Given the description of an element on the screen output the (x, y) to click on. 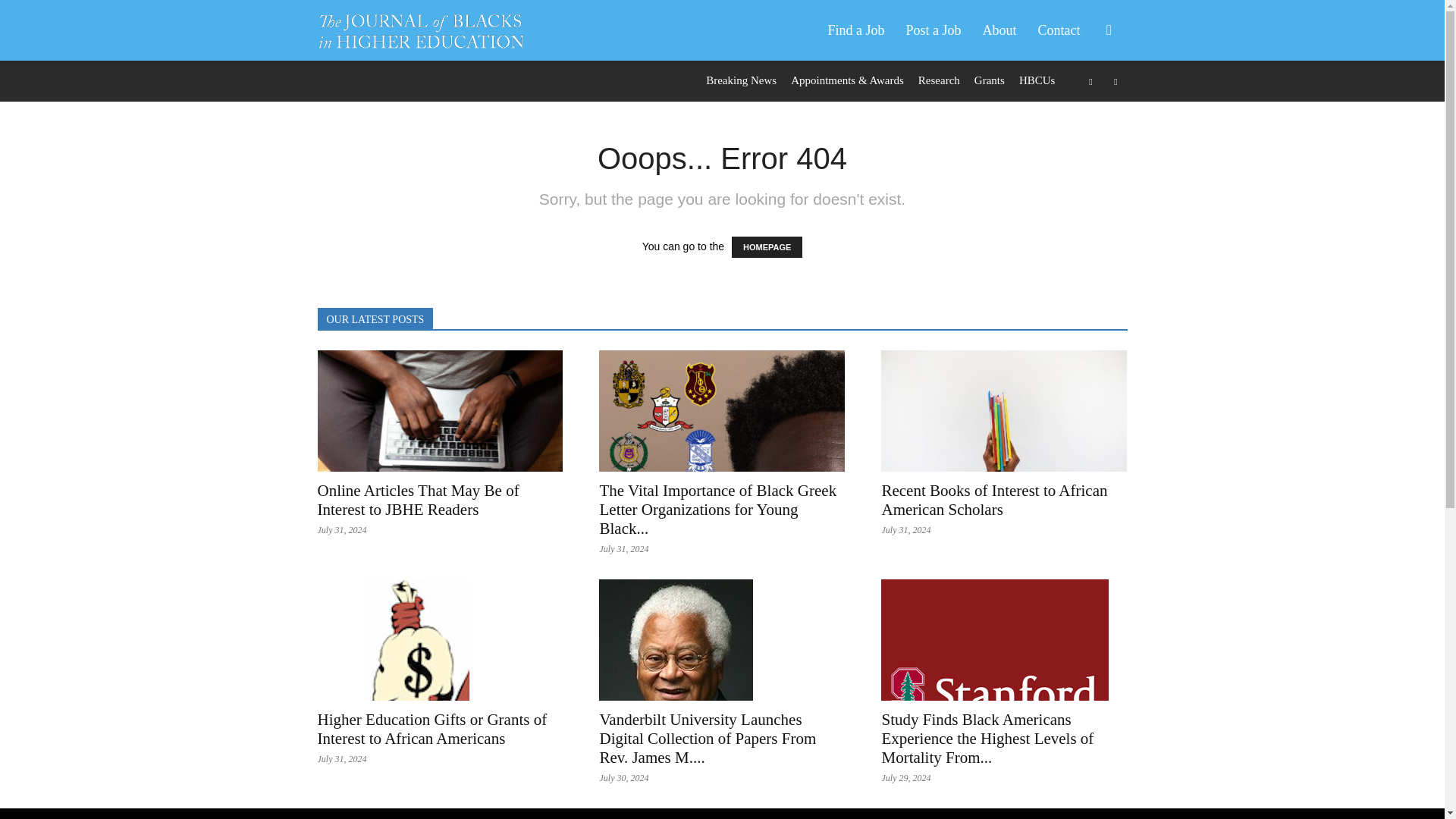
HOMEPAGE (767, 246)
Recent Books of Interest to African American Scholars (993, 499)
Recent Books of Interest to African American Scholars (1003, 410)
Search (1085, 102)
Online Articles That May Be of Interest to JBHE Readers (439, 410)
HBCUs (1037, 80)
Find a Job (855, 30)
Online Articles That May Be of Interest to JBHE Readers (417, 499)
